Given the description of an element on the screen output the (x, y) to click on. 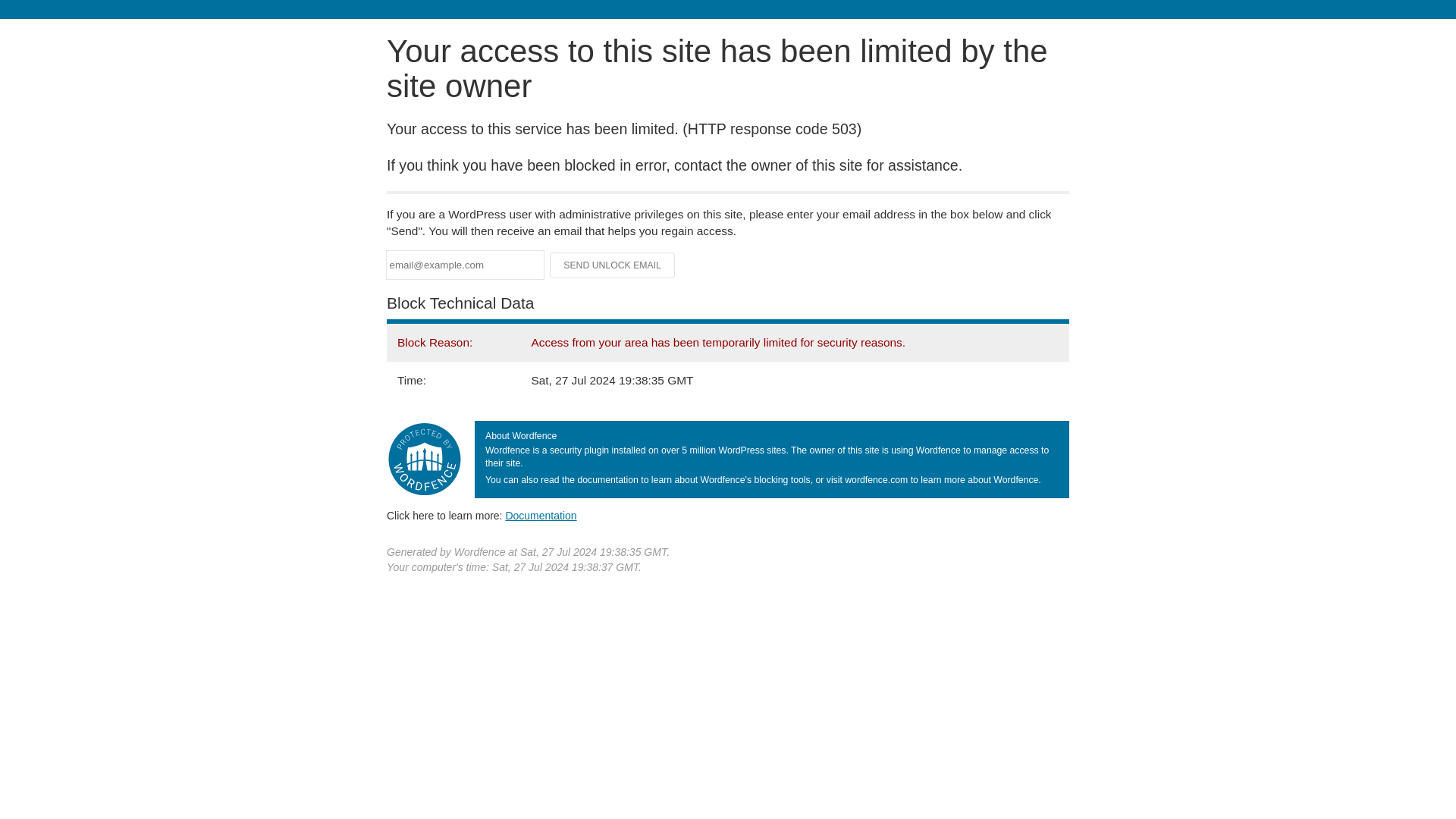
Send Unlock Email (612, 265)
Documentation (540, 515)
Send Unlock Email (612, 265)
